Given the description of an element on the screen output the (x, y) to click on. 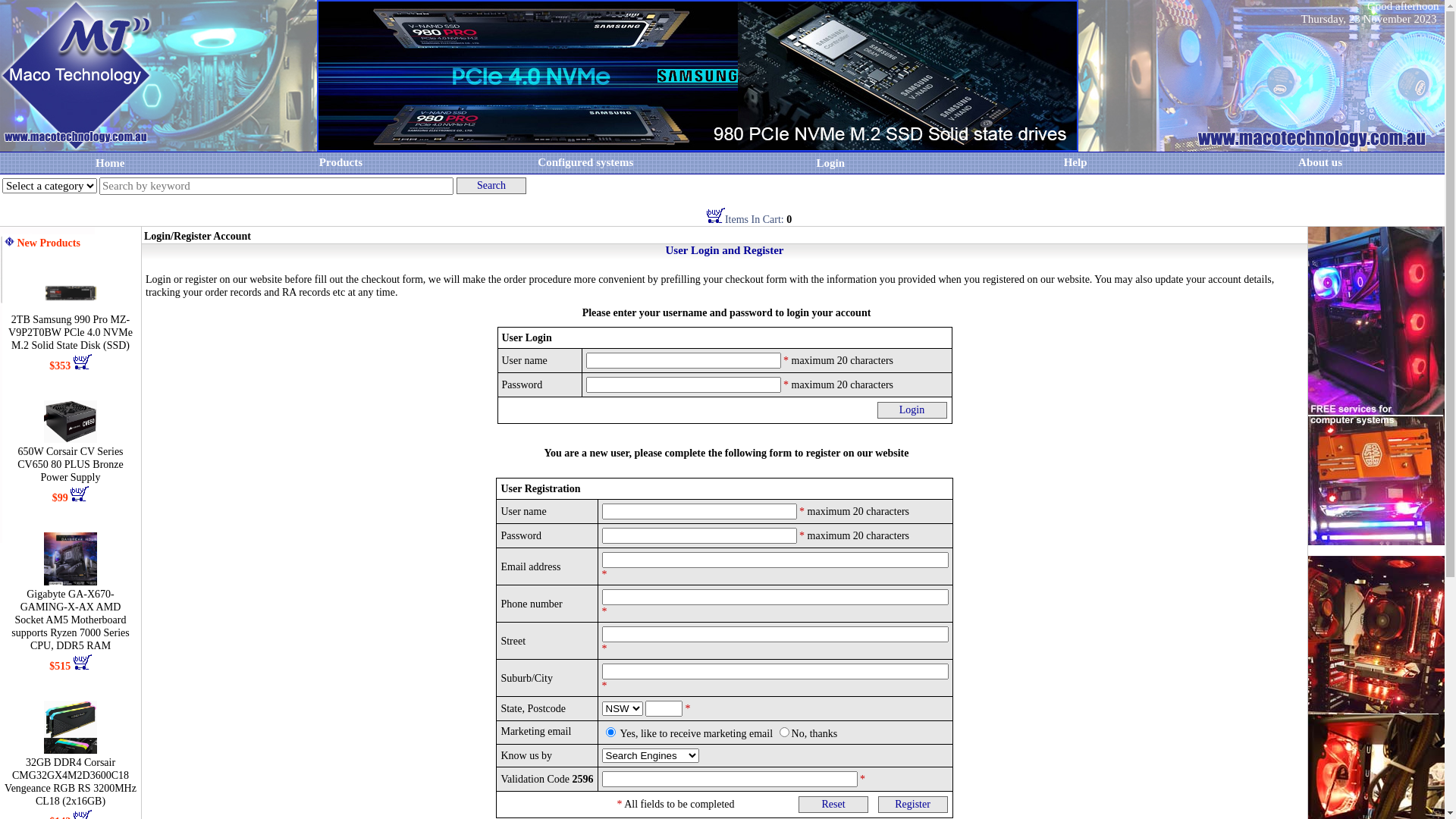
Products Element type: text (340, 162)
Search Element type: text (491, 185)
Home Element type: text (109, 162)
Configured systems Element type: text (585, 162)
Register Element type: text (912, 804)
About us Element type: text (1320, 162)
Login Element type: text (829, 162)
Login Element type: text (911, 409)
New Products Element type: text (47, 242)
Help Element type: text (1075, 162)
